Given the description of an element on the screen output the (x, y) to click on. 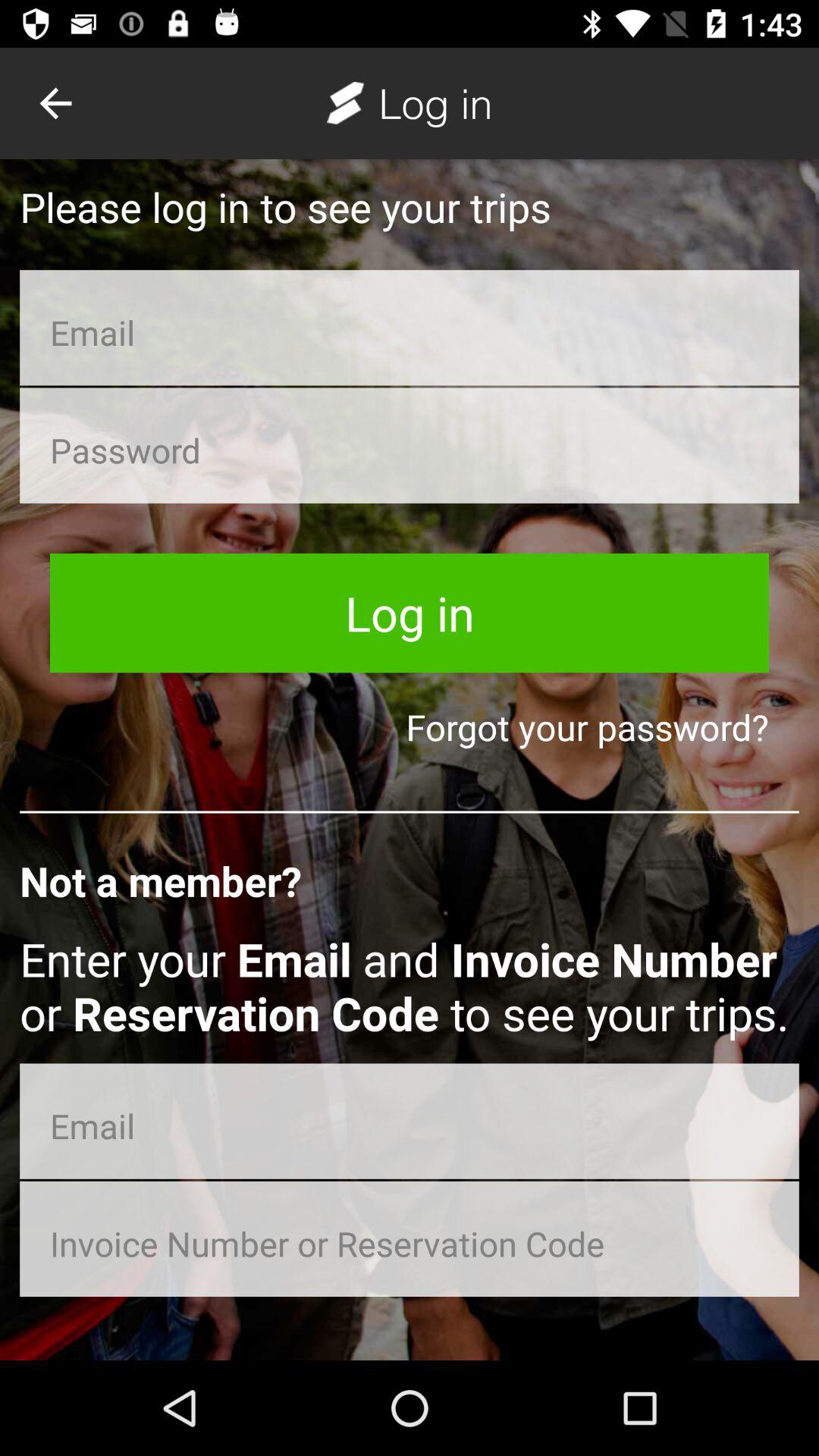
enter password (409, 445)
